Given the description of an element on the screen output the (x, y) to click on. 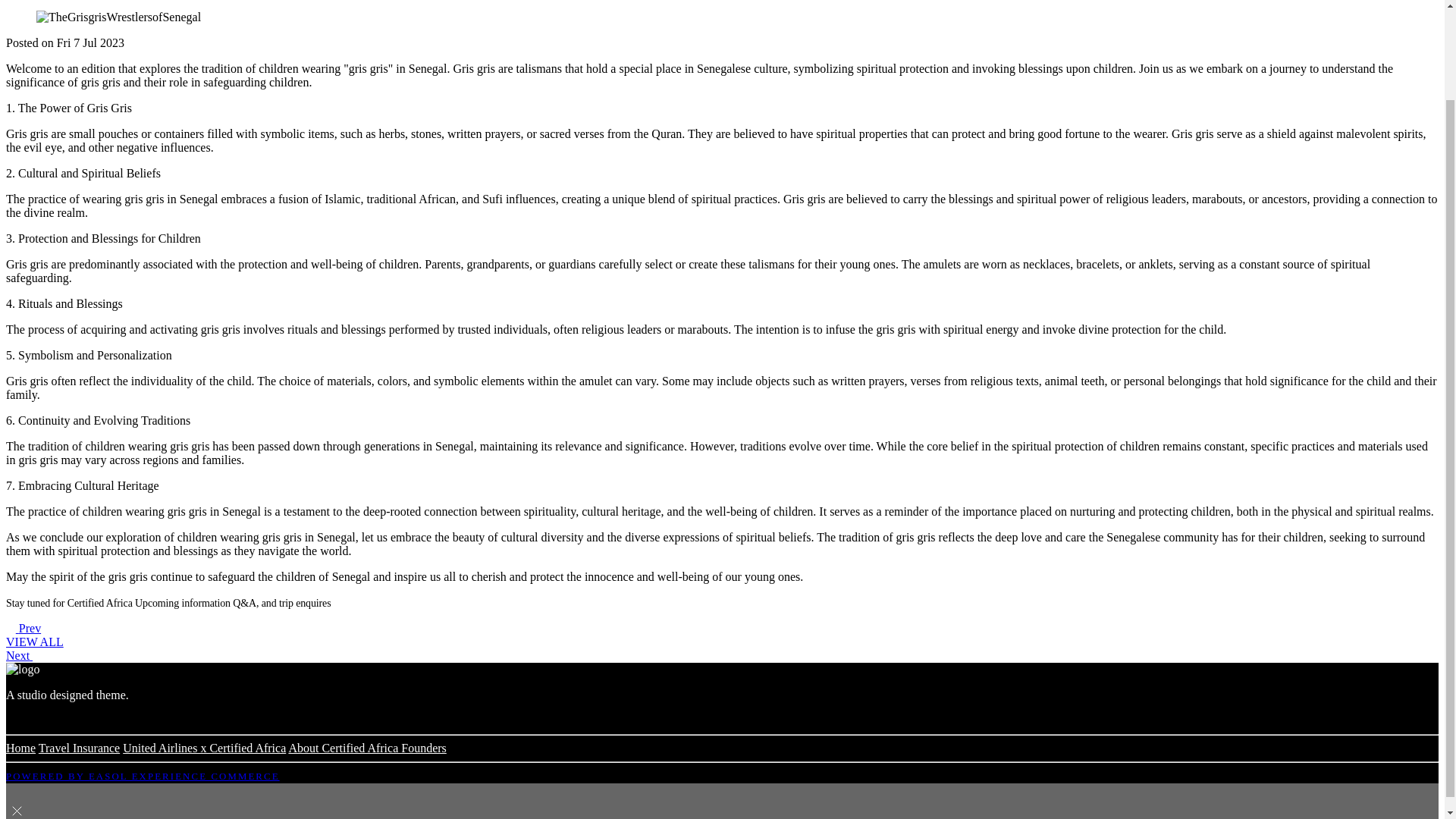
Next (23, 655)
POWERED BY EASOL EXPERIENCE COMMERCE (142, 776)
United Airlines x Certified Africa (203, 748)
VIEW ALL (34, 641)
Prev (22, 627)
About Certified Africa Founders (366, 748)
Home (19, 748)
Travel Insurance (79, 748)
